Given the description of an element on the screen output the (x, y) to click on. 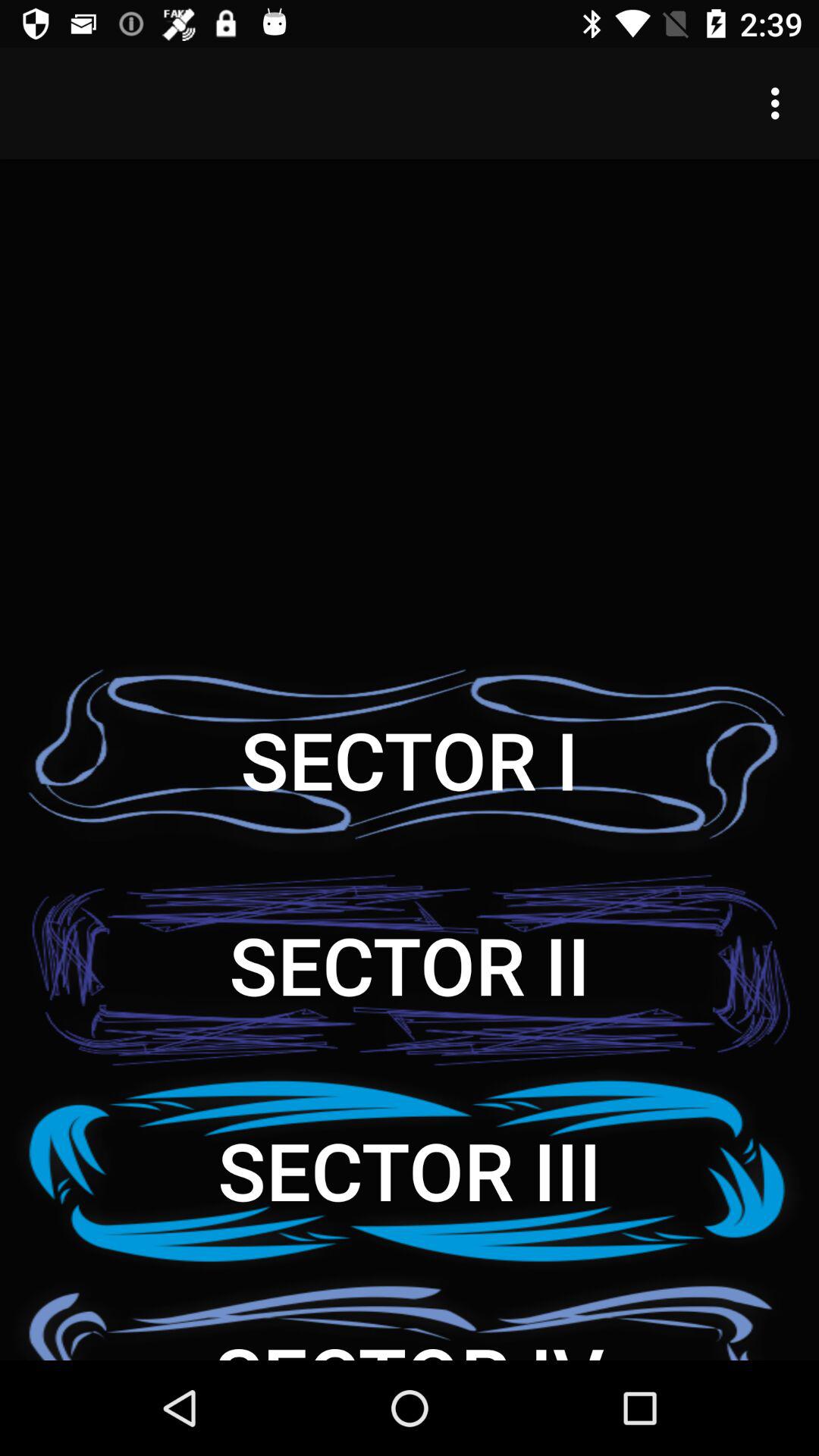
scroll to the sector i icon (409, 759)
